Given the description of an element on the screen output the (x, y) to click on. 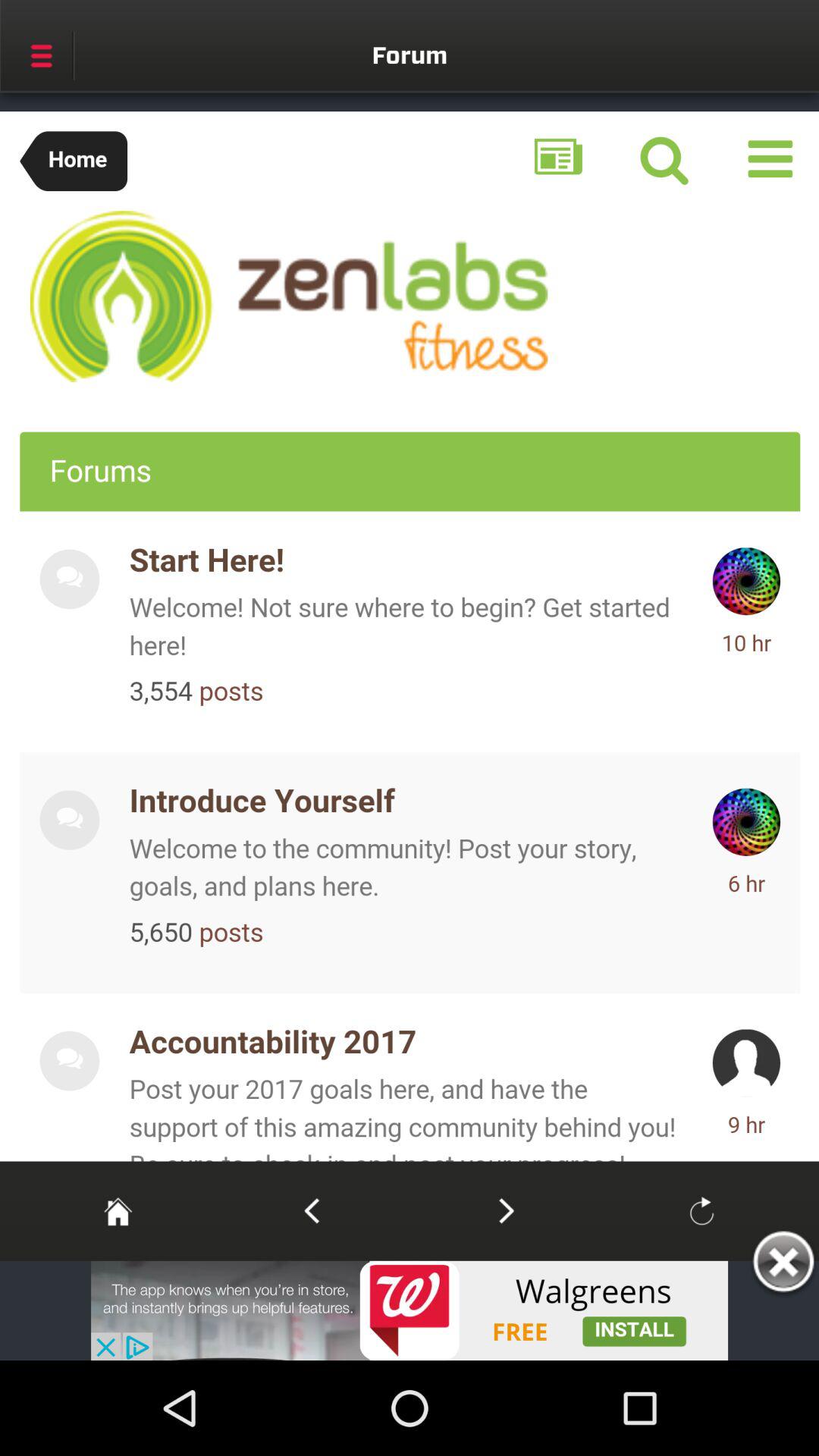
back buttons (311, 1210)
